Given the description of an element on the screen output the (x, y) to click on. 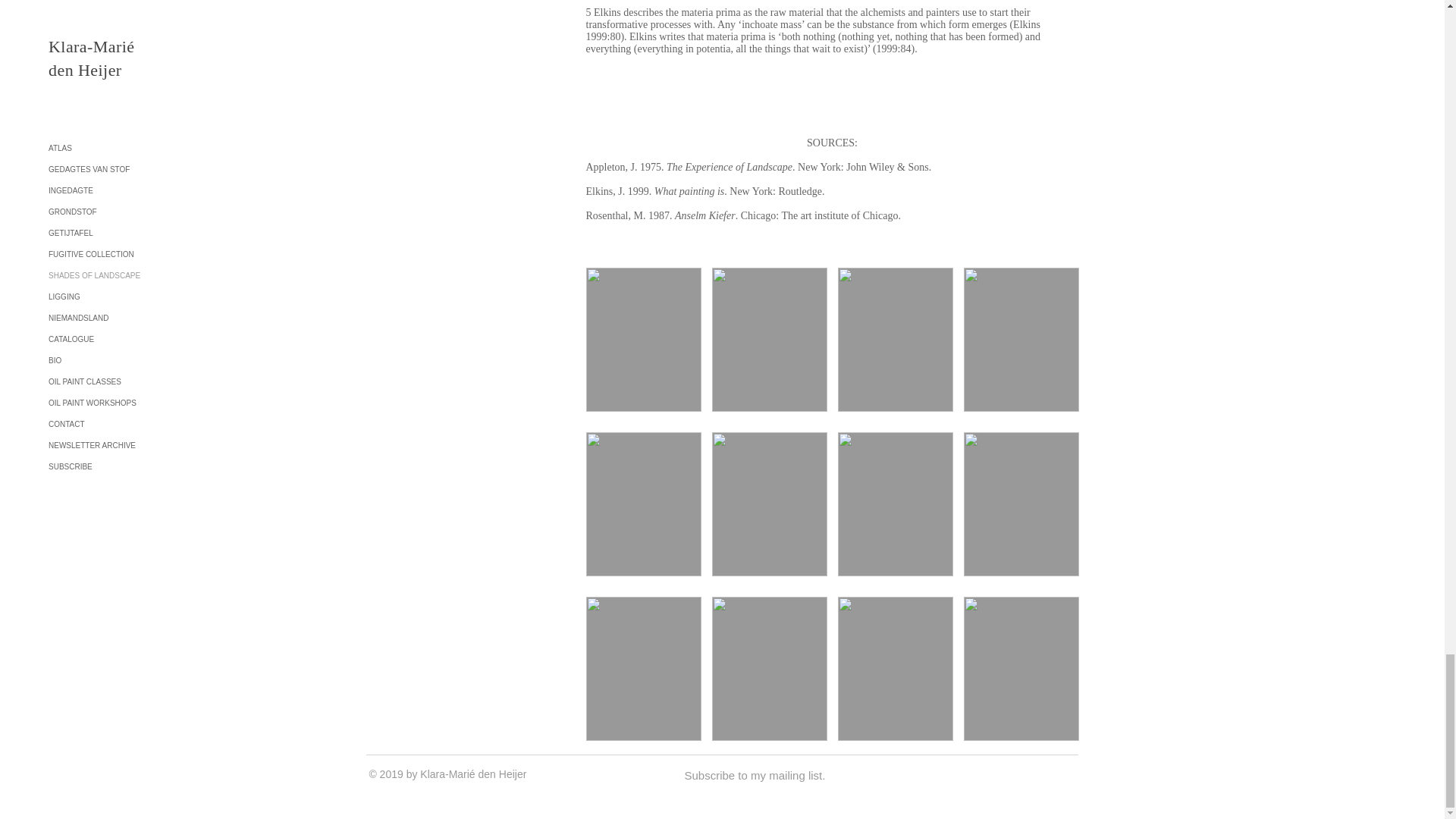
Subscribe to my mailing list. (754, 775)
